Given the description of an element on the screen output the (x, y) to click on. 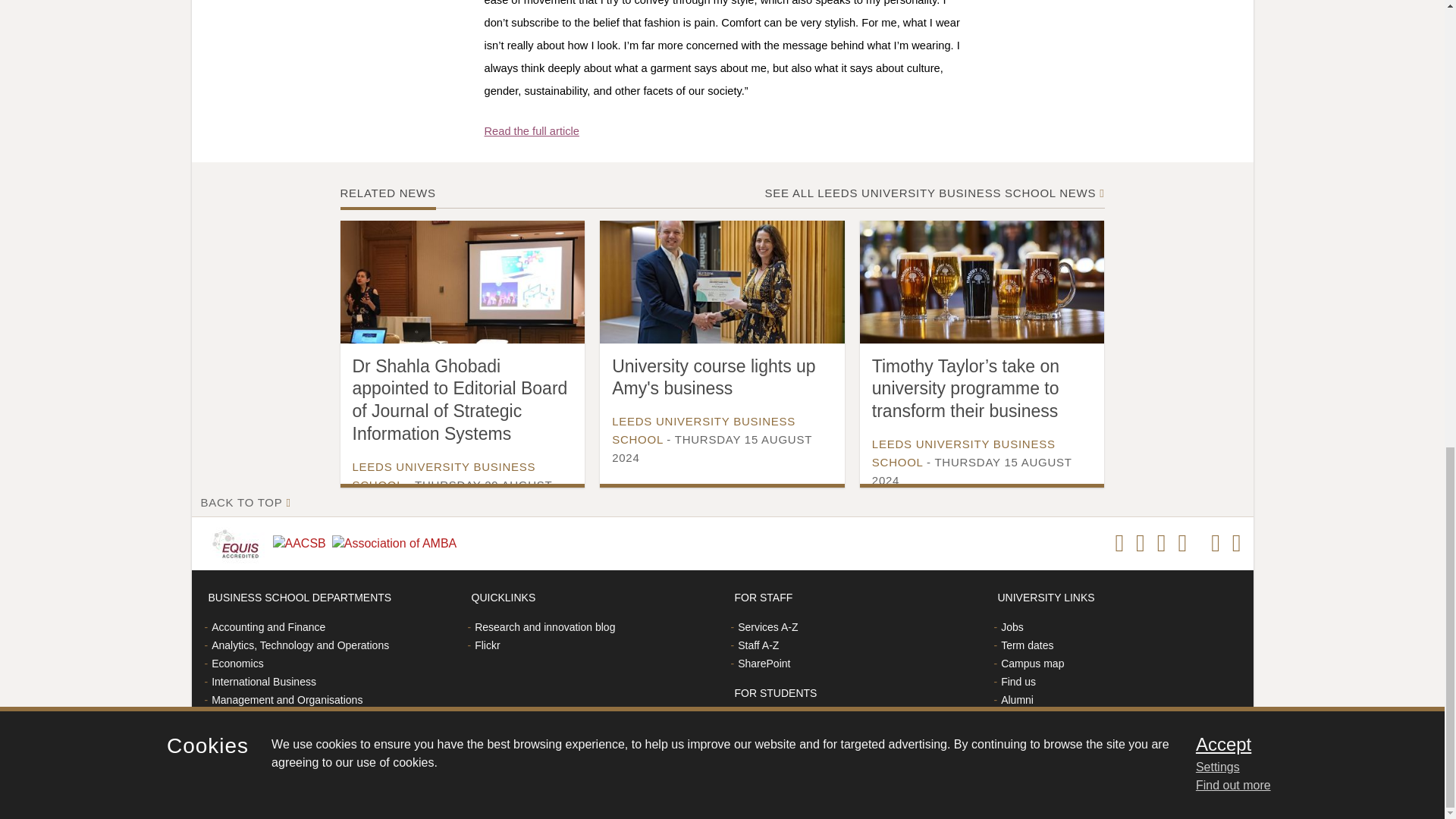
Visit 3-AMBA (397, 543)
Visit 1-EFMD (237, 543)
Visit 2-AACSB (302, 543)
